Given the description of an element on the screen output the (x, y) to click on. 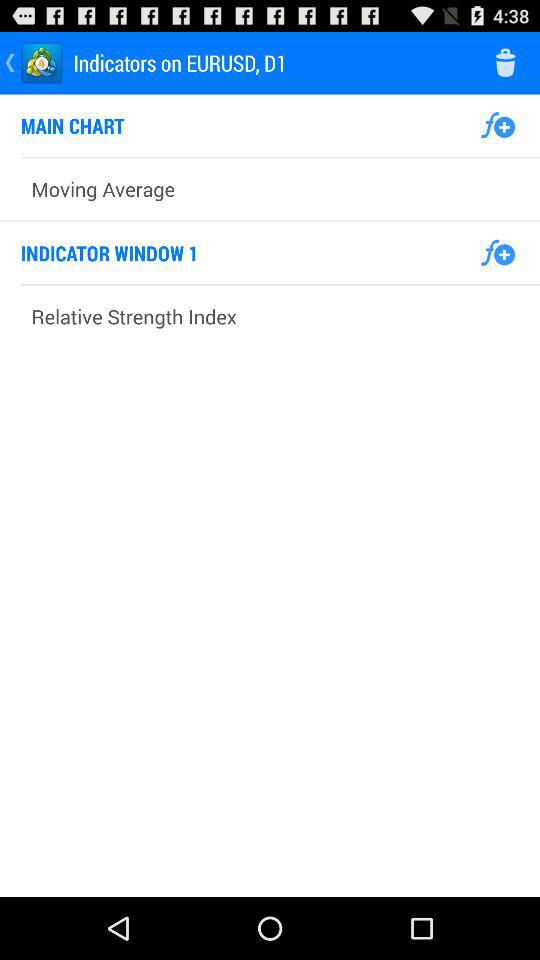
to add function (498, 253)
